Given the description of an element on the screen output the (x, y) to click on. 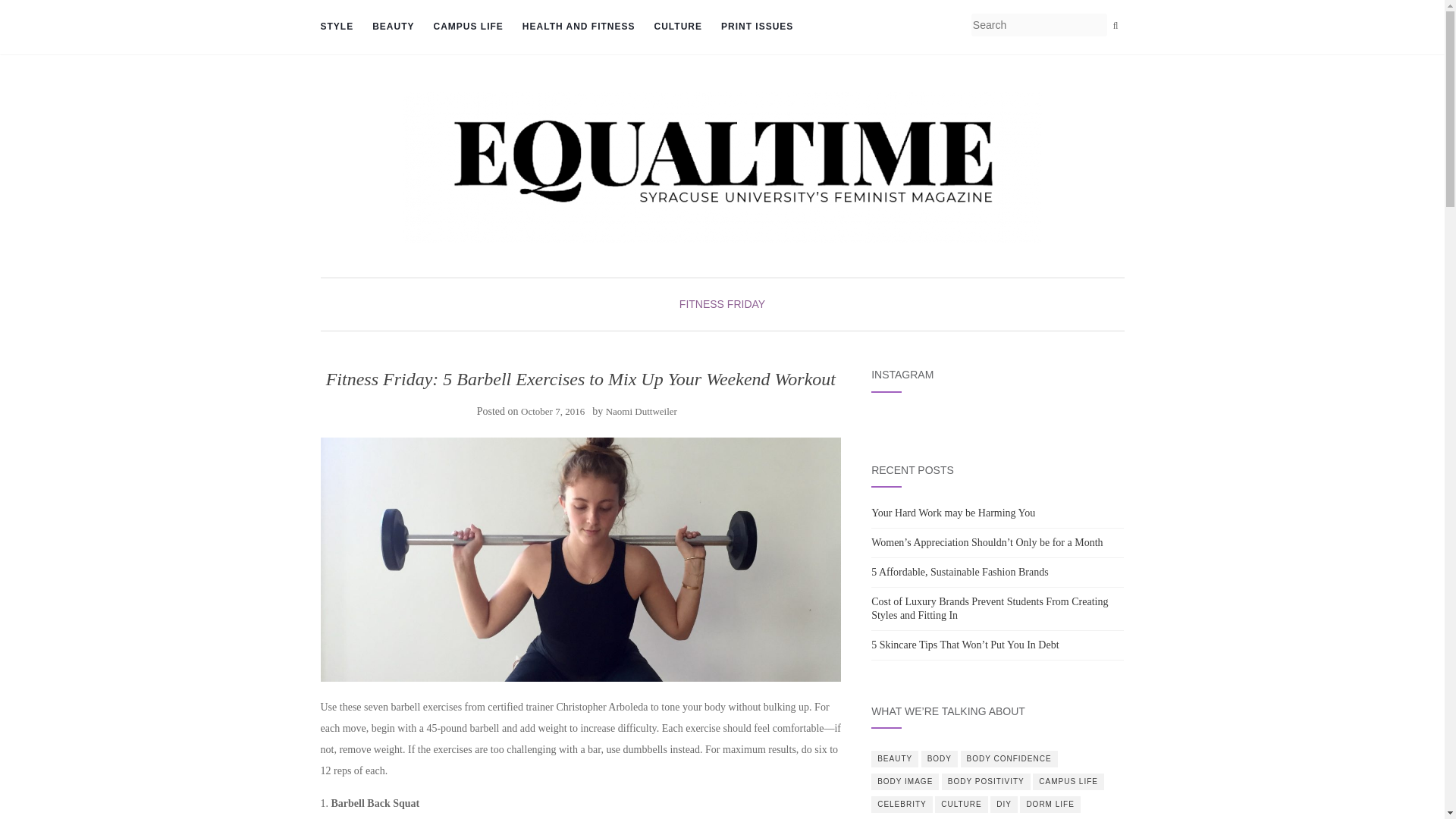
BODY CONFIDENCE (1009, 759)
PRINT ISSUES (756, 27)
Campus Life (468, 27)
HEALTH AND FITNESS (578, 27)
CAMPUS LIFE (1067, 781)
Naomi Duttweiler (641, 410)
FITNESS FRIDAY (722, 304)
Health and Fitness (578, 27)
BODY POSITIVITY (986, 781)
BEAUTY (894, 759)
BODY (939, 759)
CULTURE (960, 804)
DIY (1003, 804)
